Given the description of an element on the screen output the (x, y) to click on. 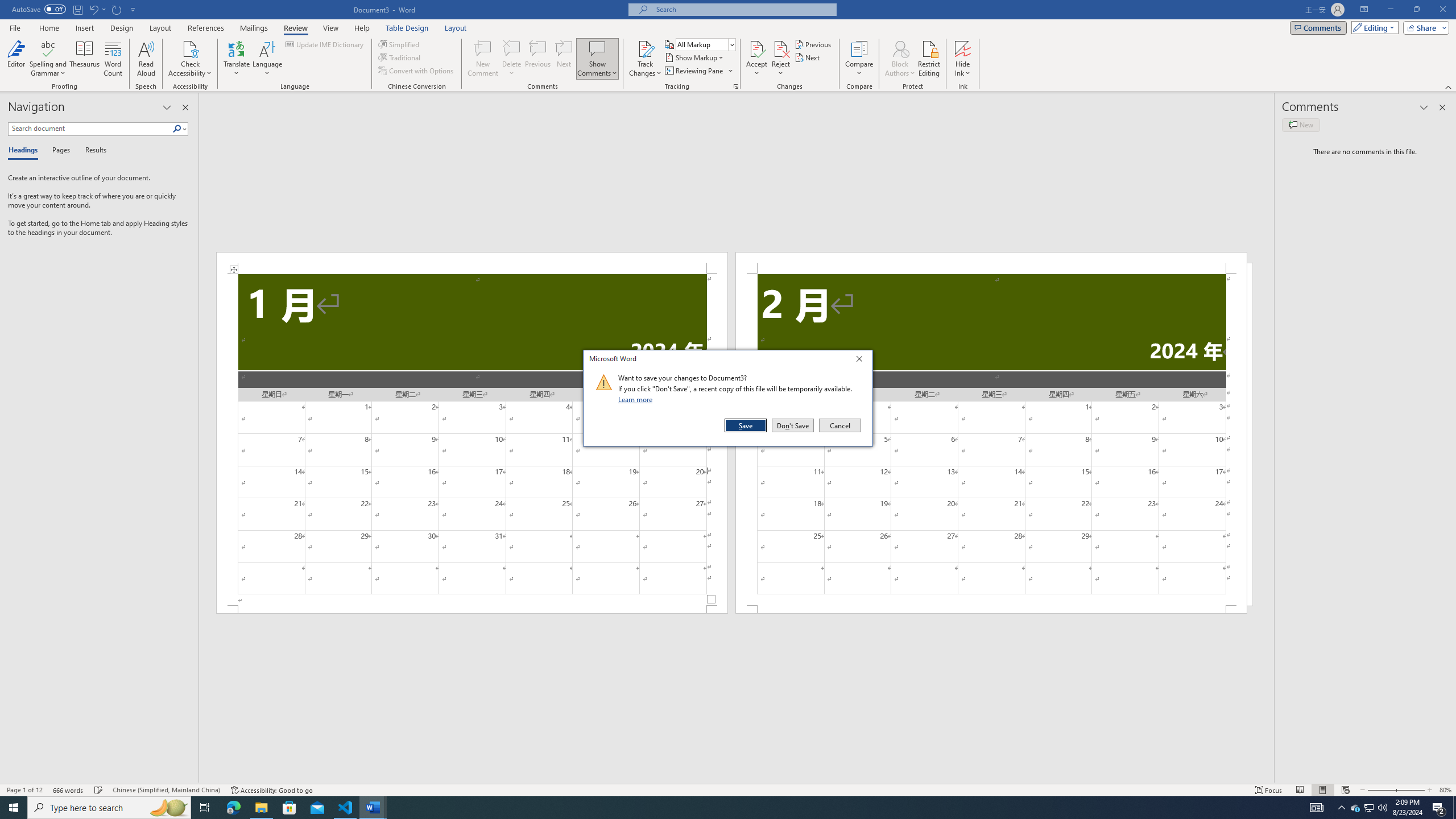
Don't Save (792, 425)
Compare (859, 58)
Start (13, 807)
Spelling and Grammar (48, 58)
Hide Ink (962, 58)
Word Count (113, 58)
Restrict Editing (929, 58)
Search highlights icon opens search home window (167, 807)
Footer -Section 1- (471, 609)
Word Count 666 words (68, 790)
Update IME Dictionary... (324, 44)
